Given the description of an element on the screen output the (x, y) to click on. 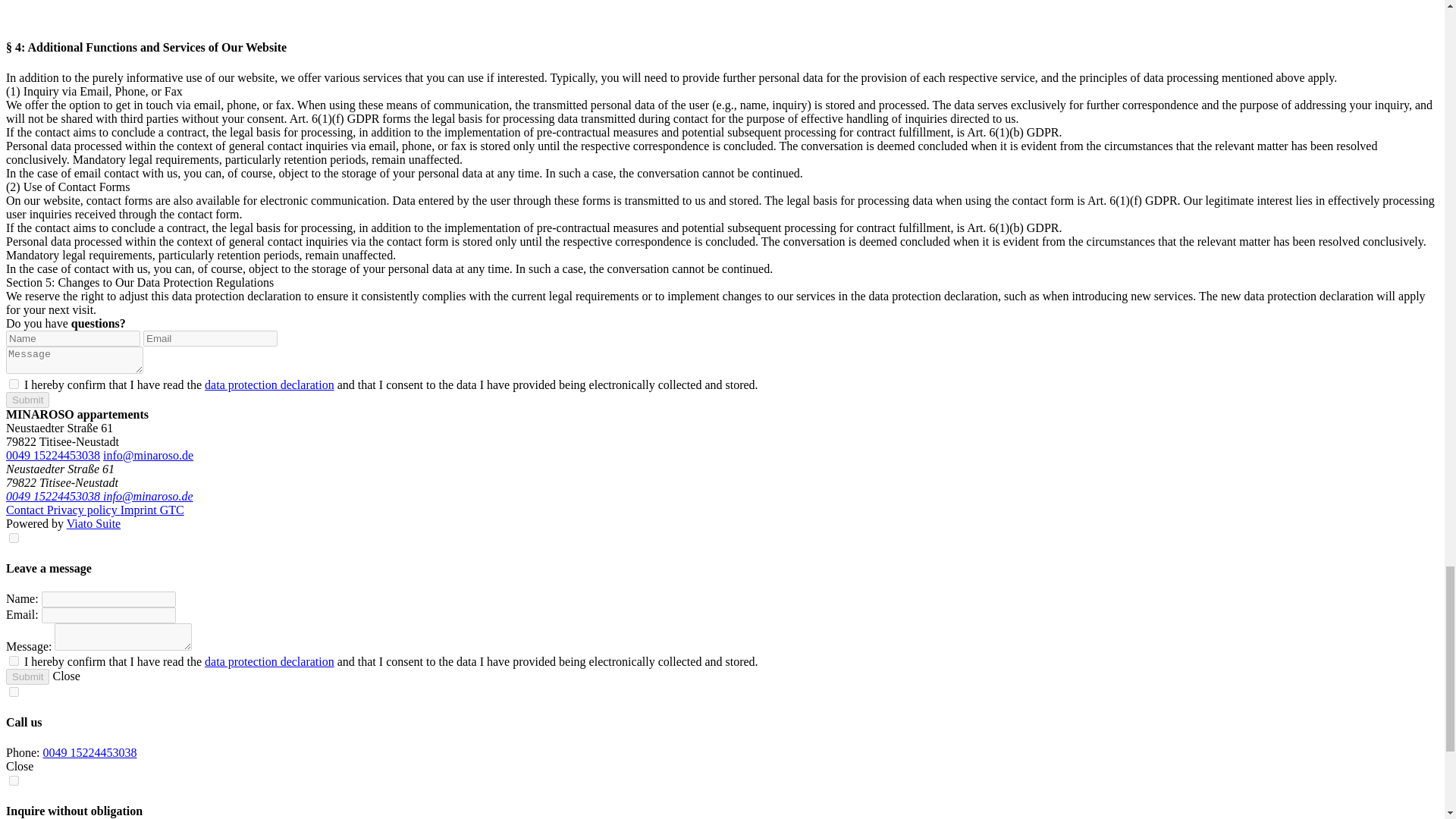
0049 15224453038 (52, 454)
0049 15224453038 (54, 495)
GTC (172, 509)
Contact (25, 509)
on (13, 660)
Submit (27, 399)
on (13, 384)
0049 15224453038 (89, 752)
on (13, 691)
data protection declaration (269, 384)
